Given the description of an element on the screen output the (x, y) to click on. 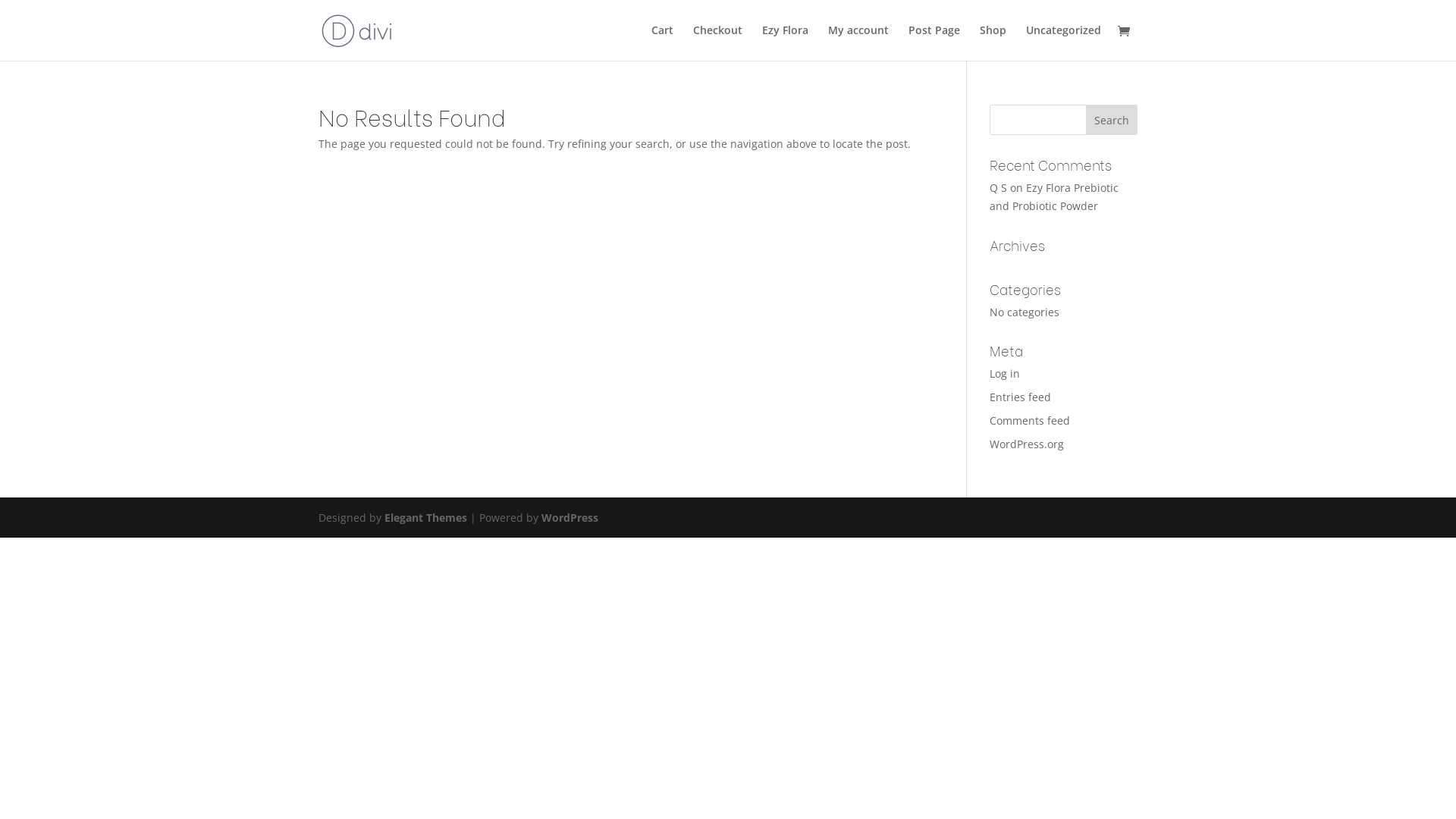
My account Element type: text (858, 42)
Uncategorized Element type: text (1063, 42)
Ezy Flora Element type: text (785, 42)
Log in Element type: text (1004, 373)
Search Element type: text (1111, 119)
Cart Element type: text (662, 42)
Checkout Element type: text (717, 42)
Entries feed Element type: text (1020, 396)
Post Page Element type: text (934, 42)
Elegant Themes Element type: text (425, 517)
Ezy Flora Prebiotic and Probiotic Powder Element type: text (1053, 196)
Shop Element type: text (992, 42)
WordPress Element type: text (569, 517)
Comments feed Element type: text (1029, 420)
WordPress.org Element type: text (1026, 443)
